Given the description of an element on the screen output the (x, y) to click on. 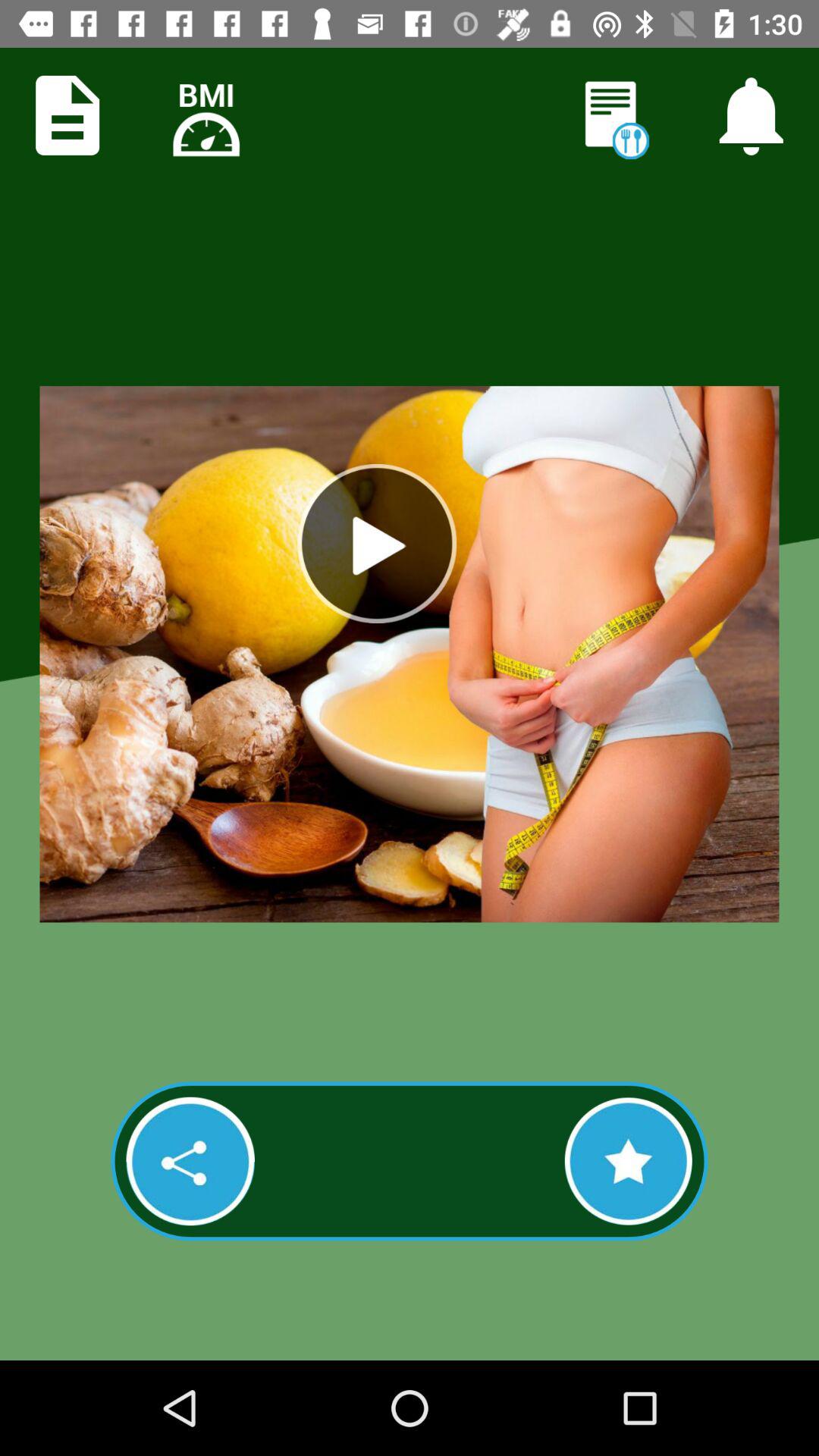
open nutrition info (613, 117)
